Given the description of an element on the screen output the (x, y) to click on. 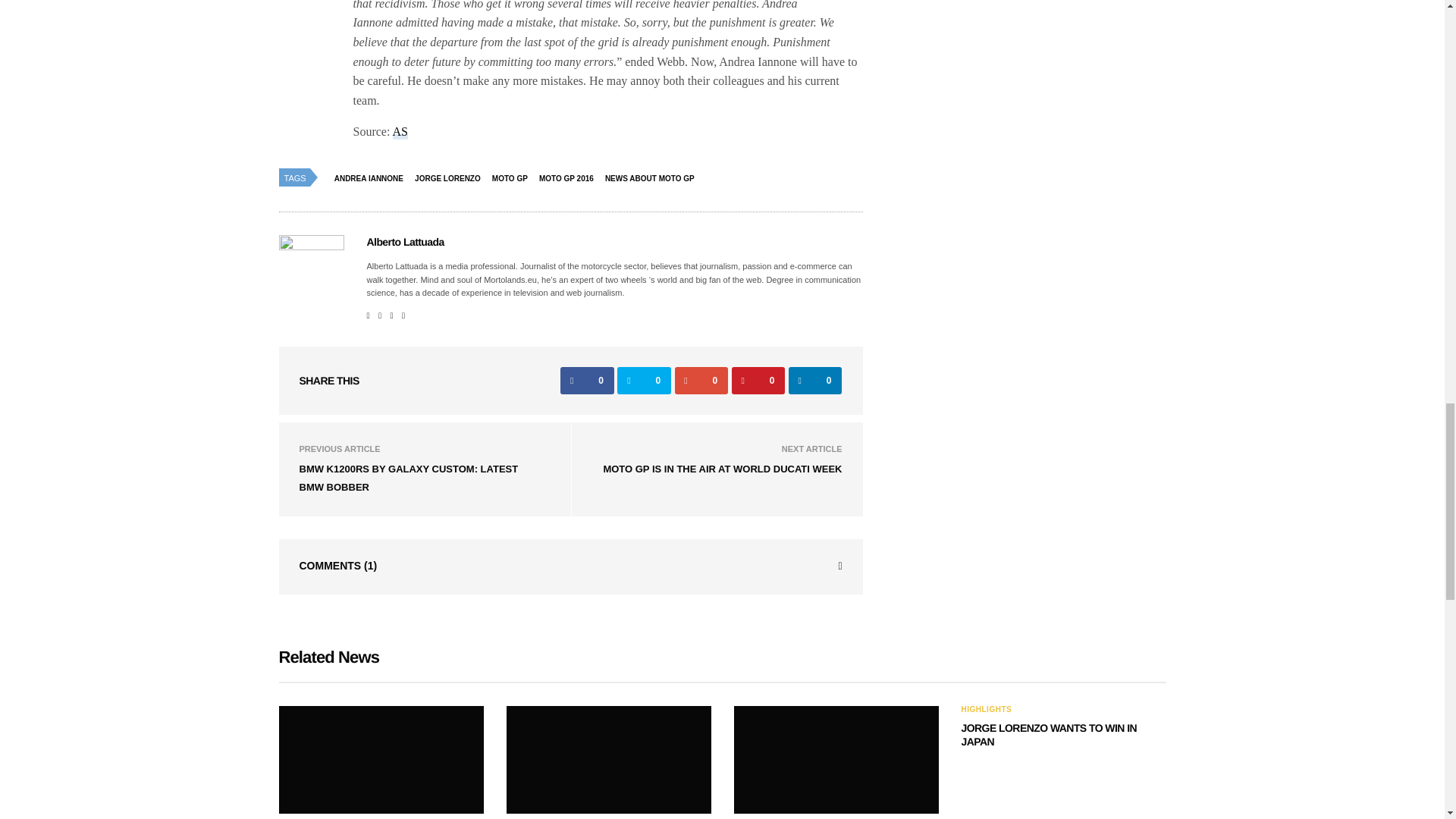
BMW K1200RS by Galaxy Custom: latest BMW bobber (408, 478)
Moto GP is in the Air at World Ducati Week (721, 469)
